Given the description of an element on the screen output the (x, y) to click on. 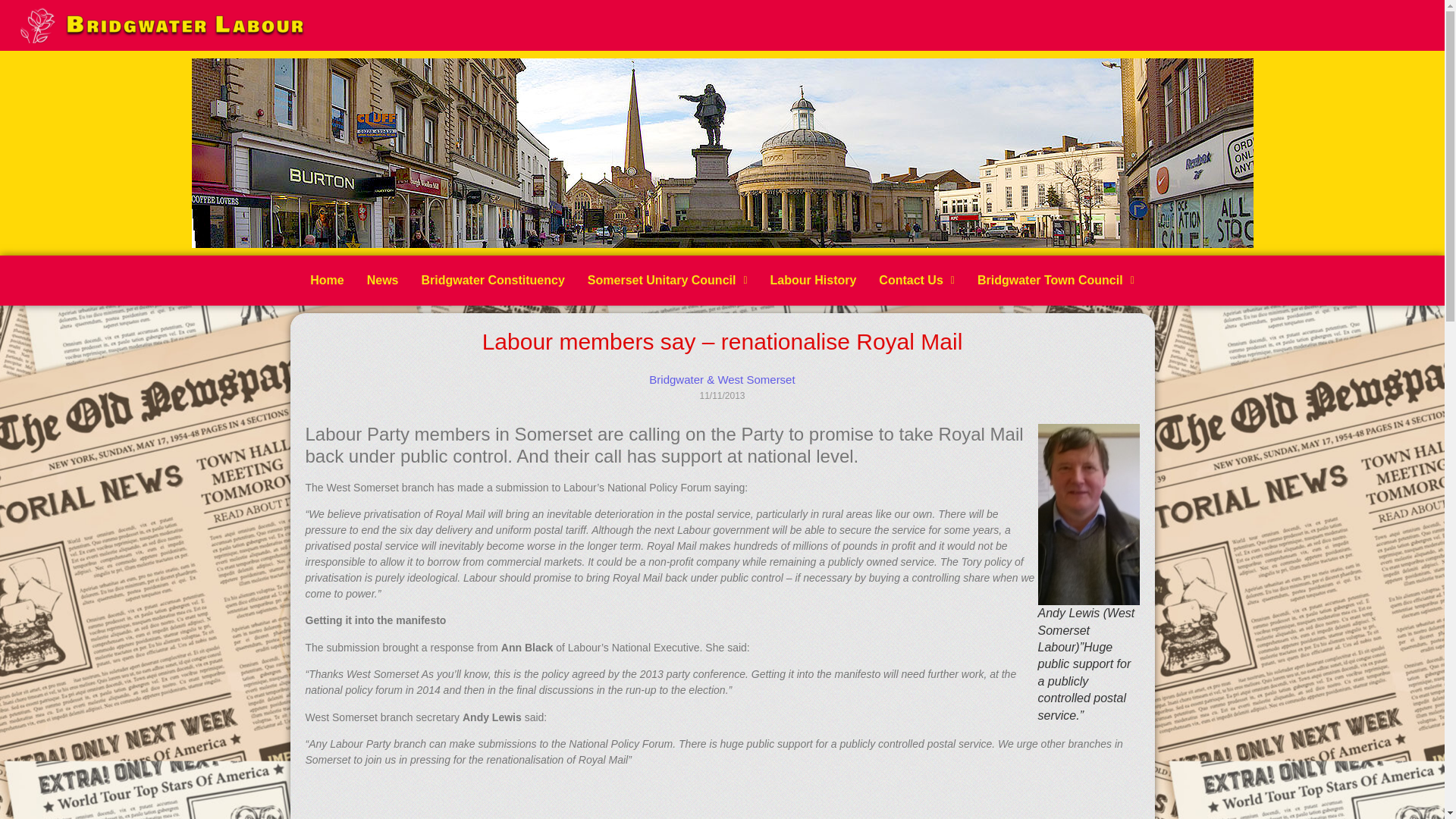
Contact Us (916, 280)
Bridgwater Constituency (492, 280)
Bridgwater Town Council (1055, 280)
Home (326, 280)
Somerset Unitary Council (667, 280)
News (382, 280)
Labour History (812, 280)
